Given the description of an element on the screen output the (x, y) to click on. 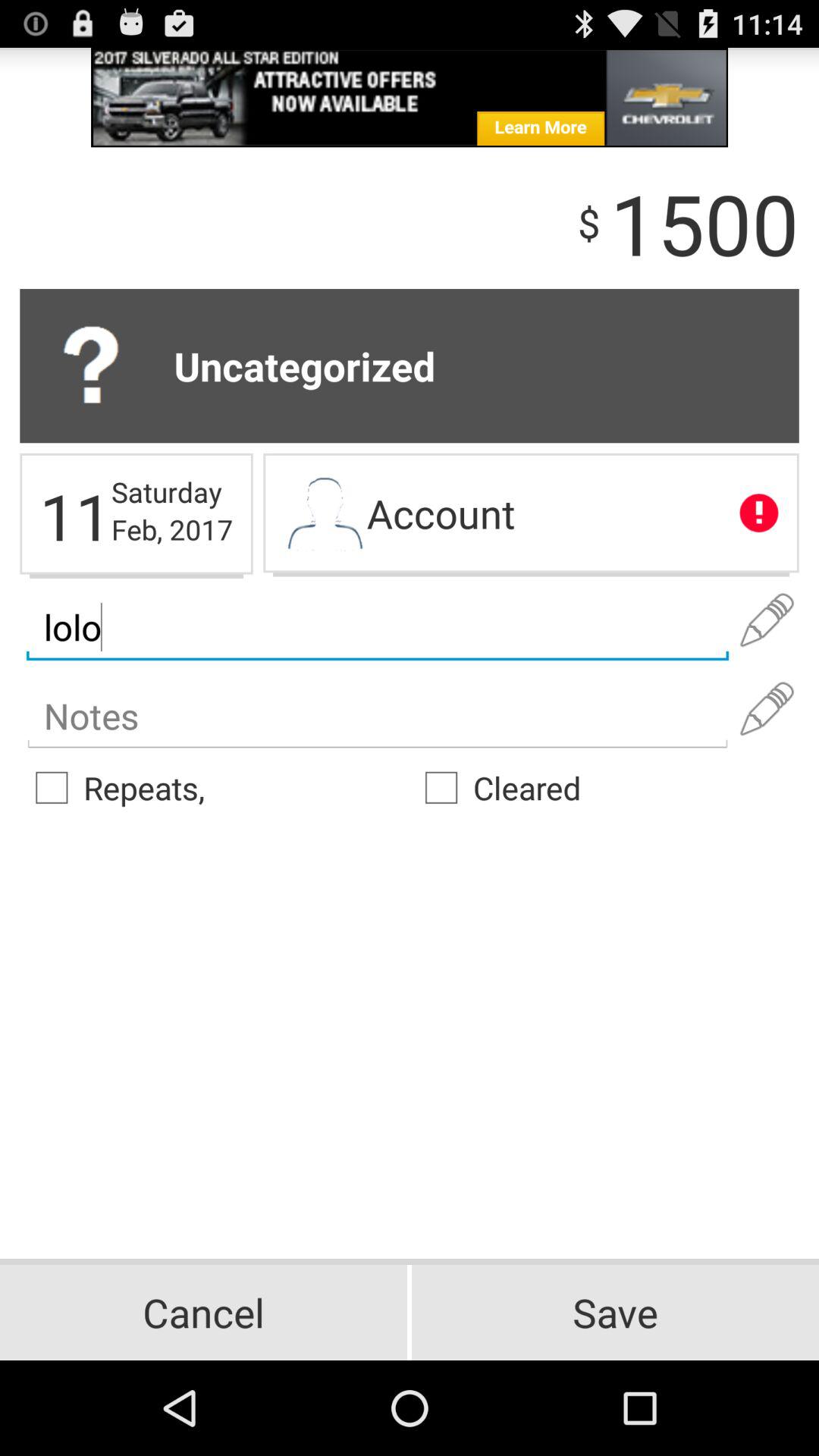
add notes (377, 716)
